Given the description of an element on the screen output the (x, y) to click on. 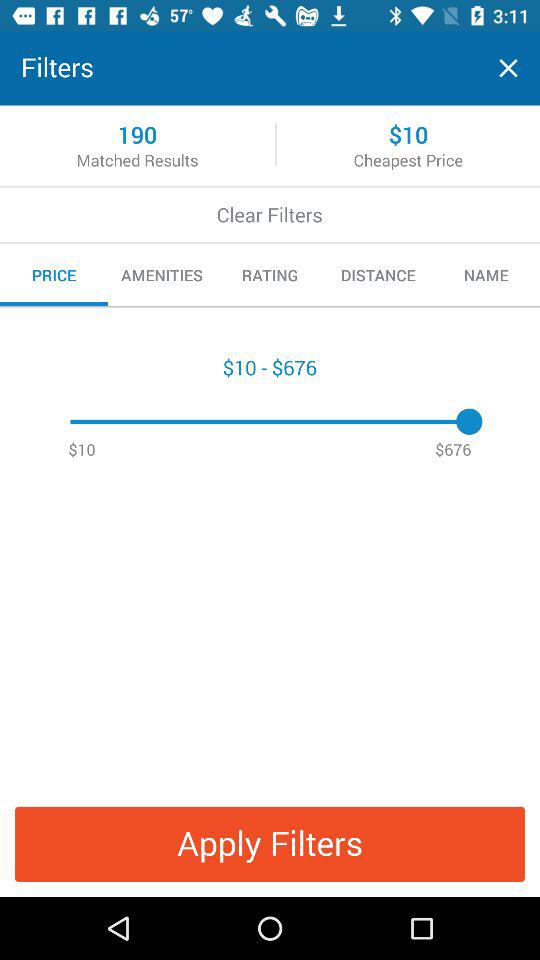
turn on the item to the right of amenities icon (270, 275)
